Given the description of an element on the screen output the (x, y) to click on. 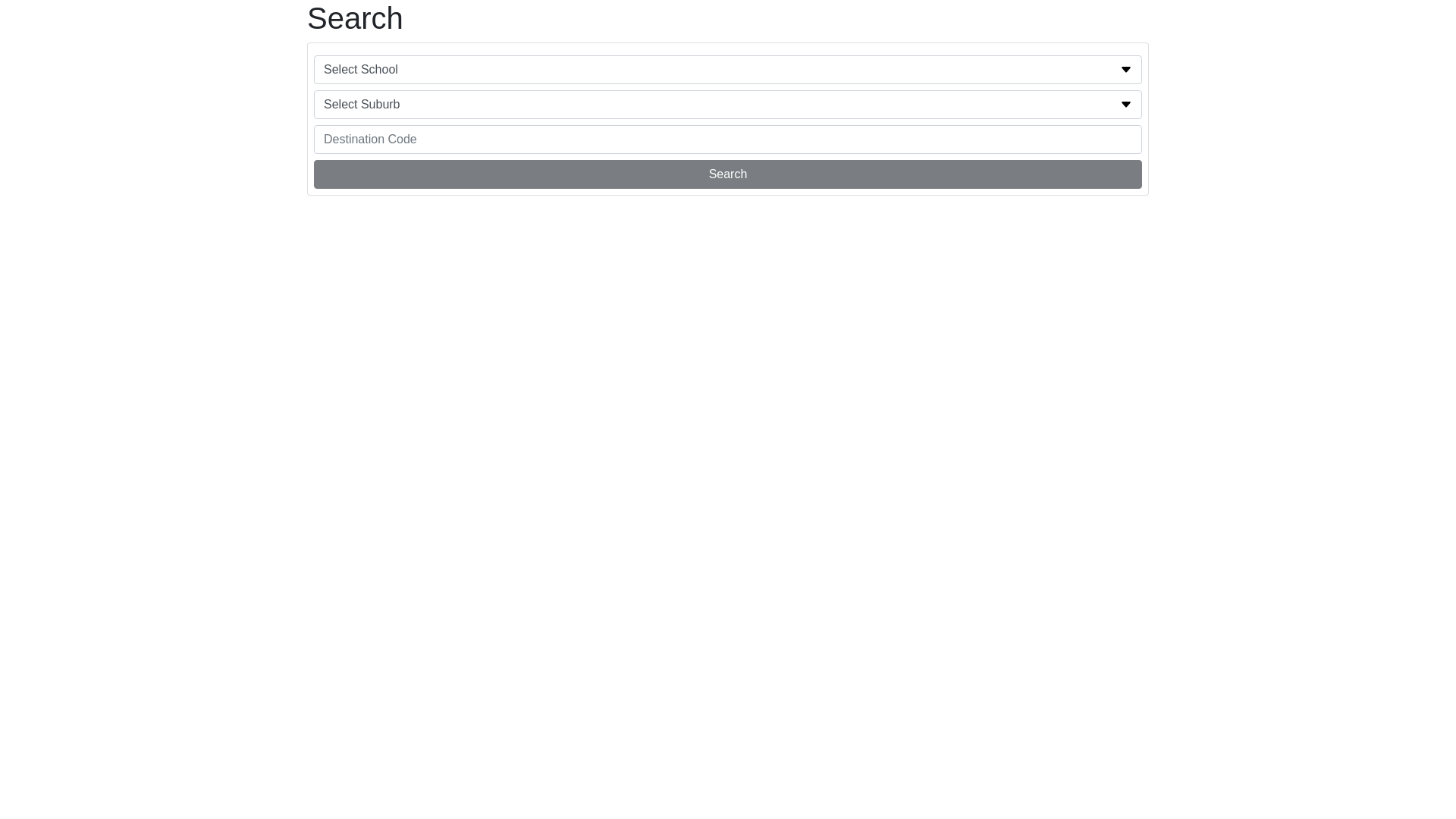
Search Element type: text (727, 174)
